Given the description of an element on the screen output the (x, y) to click on. 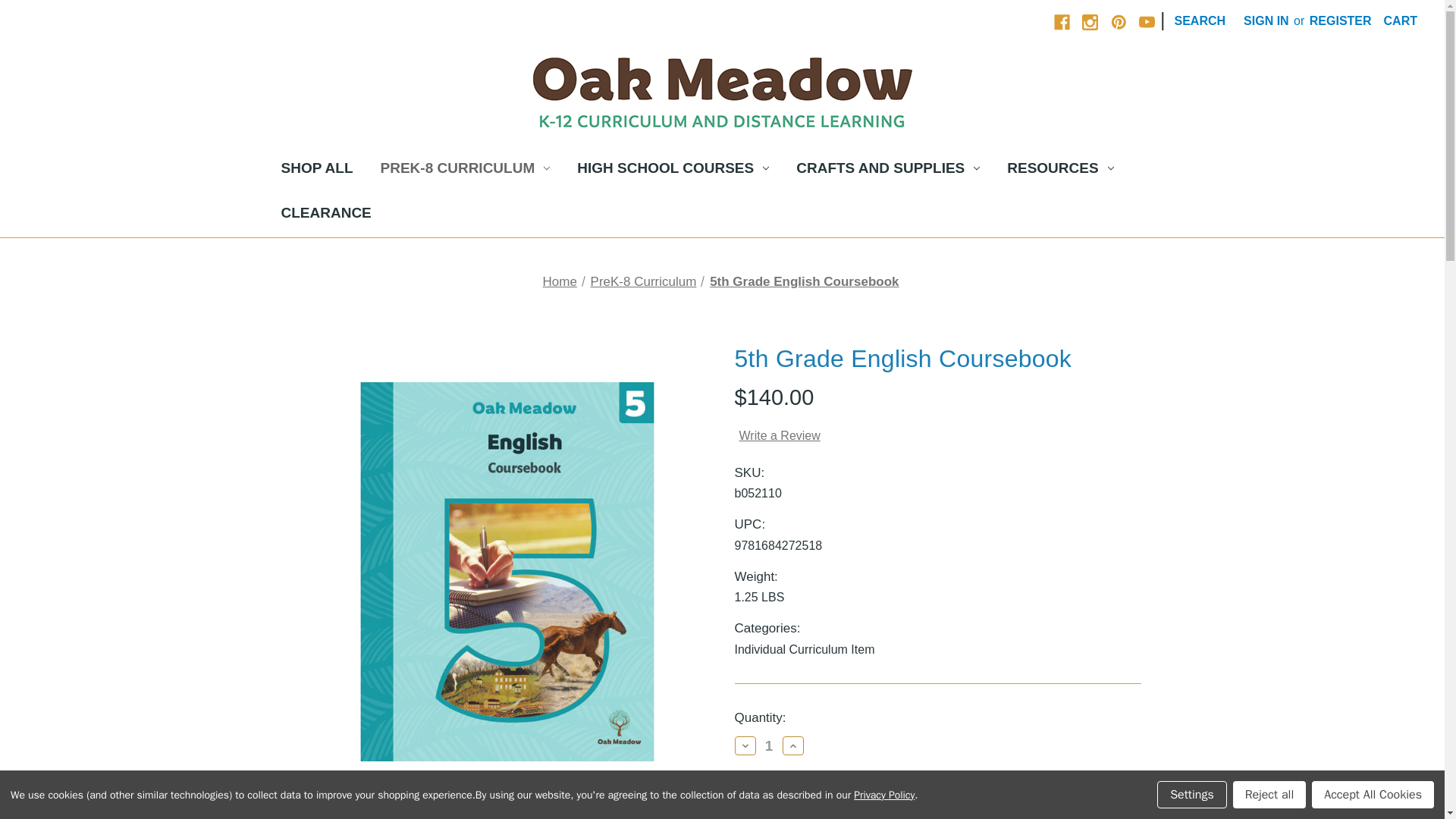
Add to Cart (792, 805)
RESOURCES (1059, 170)
Oak Meadow (721, 92)
SEARCH (1199, 21)
Pinterest (1118, 21)
CRAFTS AND SUPPLIES (887, 170)
Facebook (1062, 21)
SHOP ALL (316, 170)
Instagram (1089, 21)
SIGN IN (1266, 21)
